Given the description of an element on the screen output the (x, y) to click on. 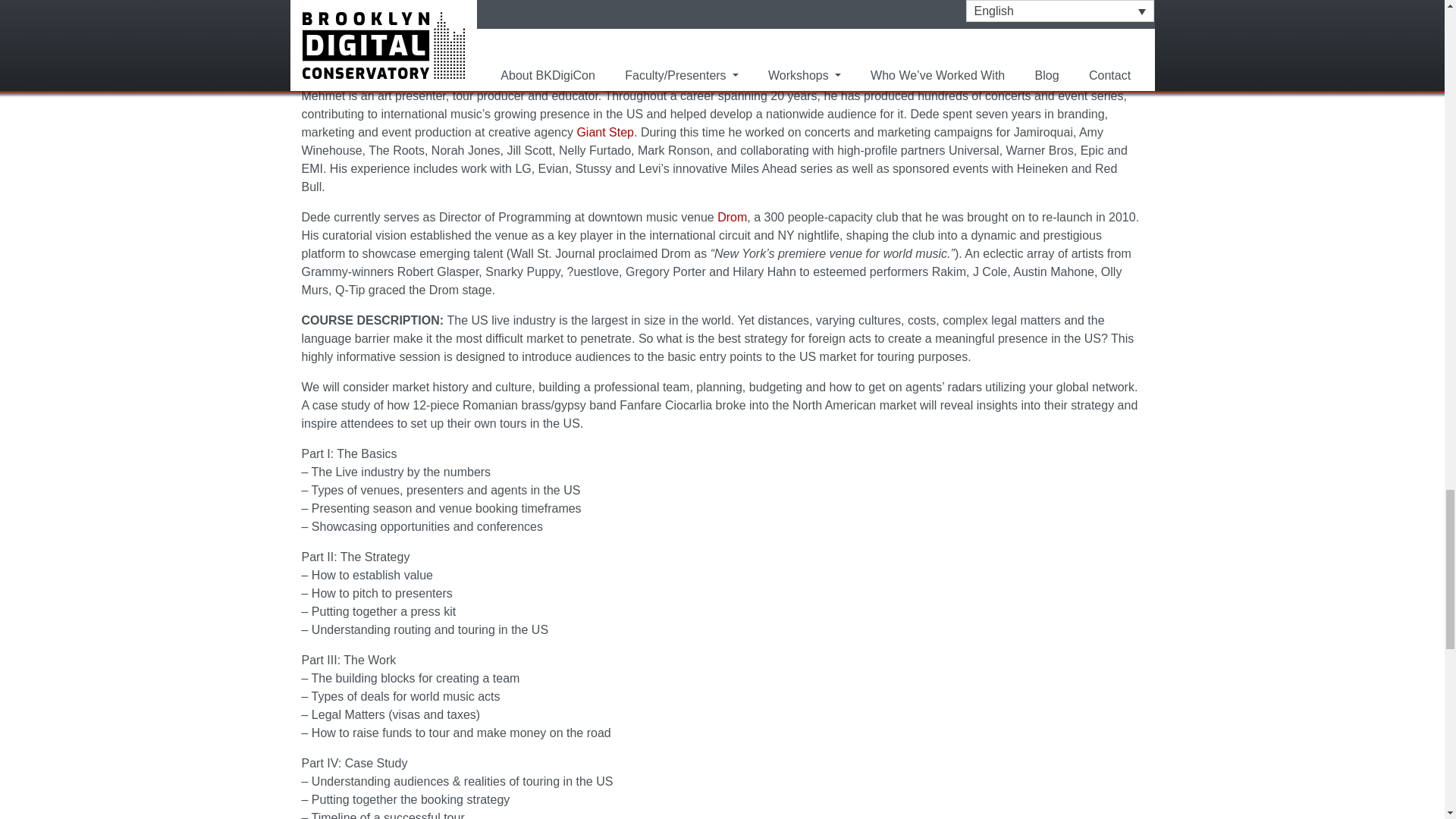
Drom (731, 216)
Mehmet Dede (575, 77)
Giant Step (604, 132)
